Given the description of an element on the screen output the (x, y) to click on. 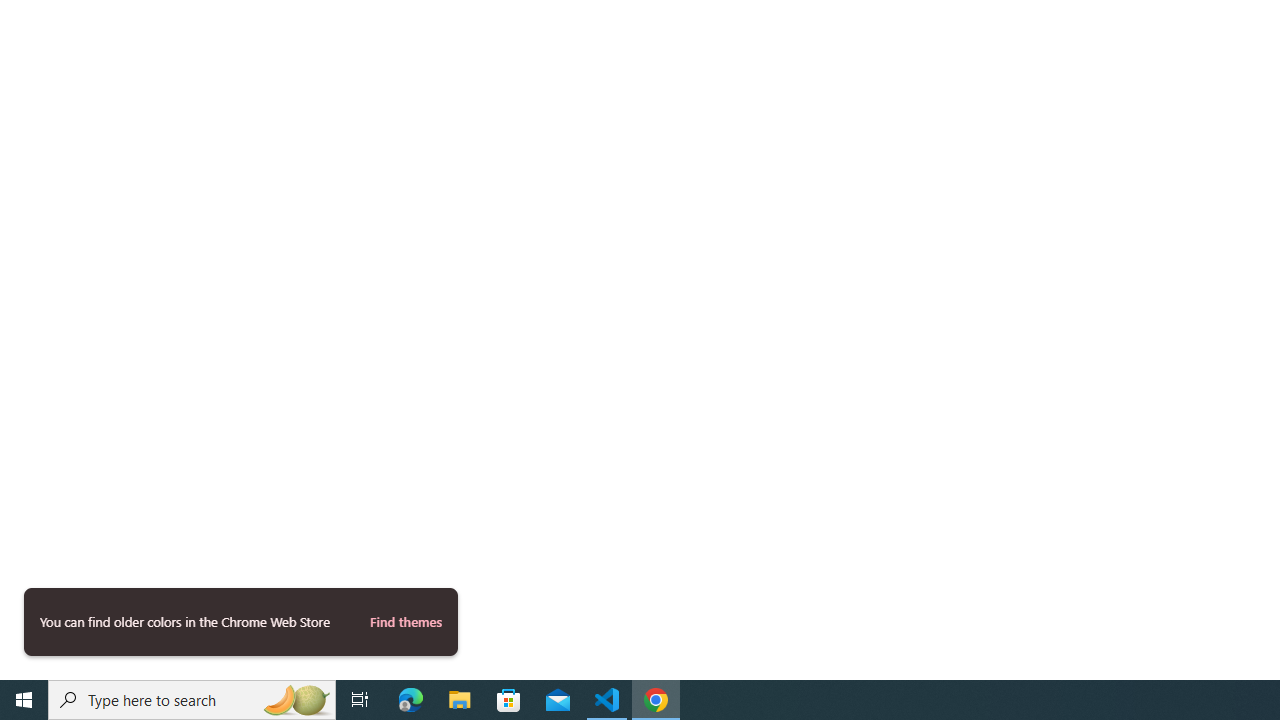
Find themes (405, 622)
